Given the description of an element on the screen output the (x, y) to click on. 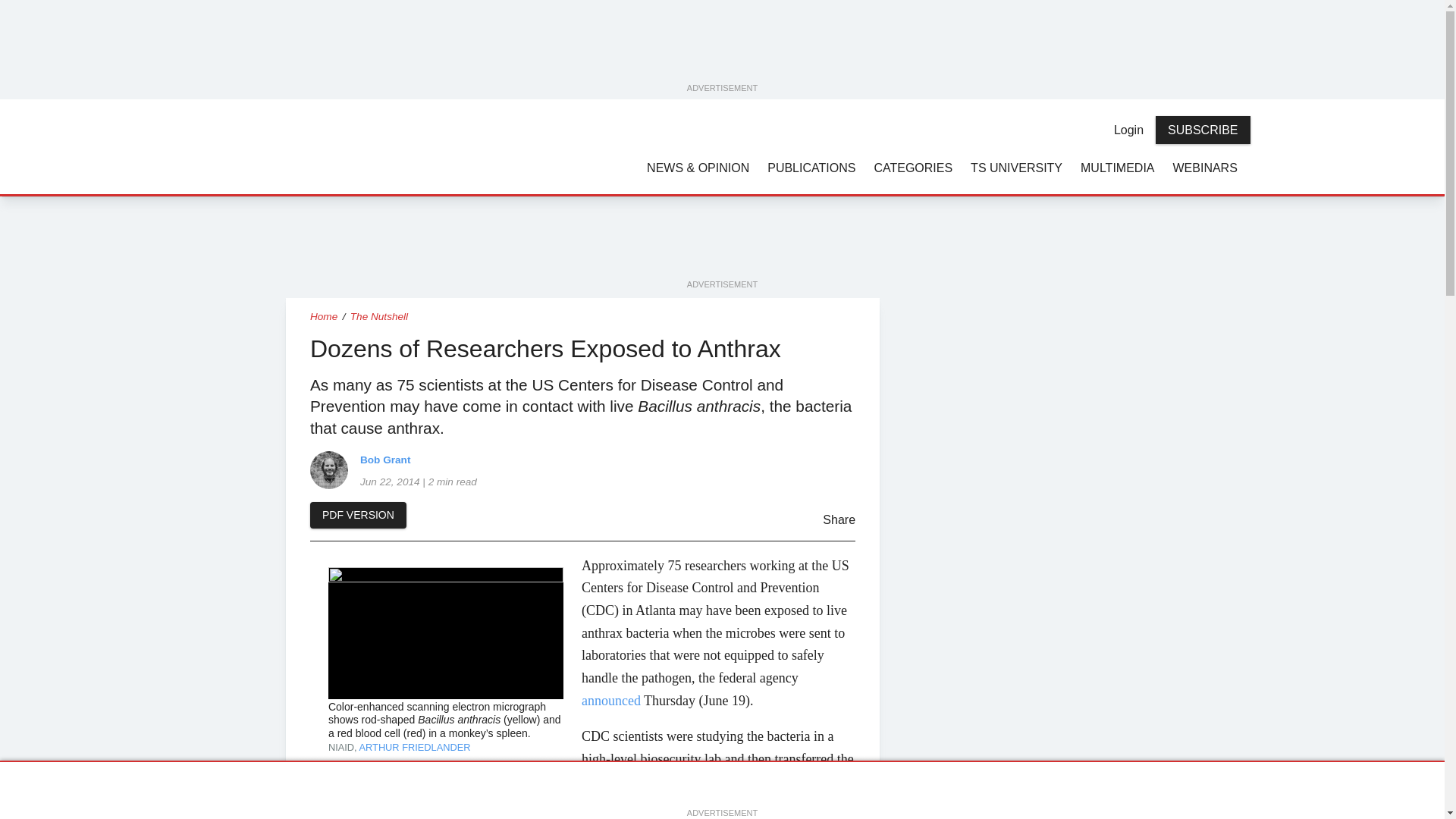
SUBSCRIBE (1202, 130)
TS UNIVERSITY (1015, 167)
CATEGORIES (912, 167)
Login (1127, 130)
Bob Grant (328, 469)
